Given the description of an element on the screen output the (x, y) to click on. 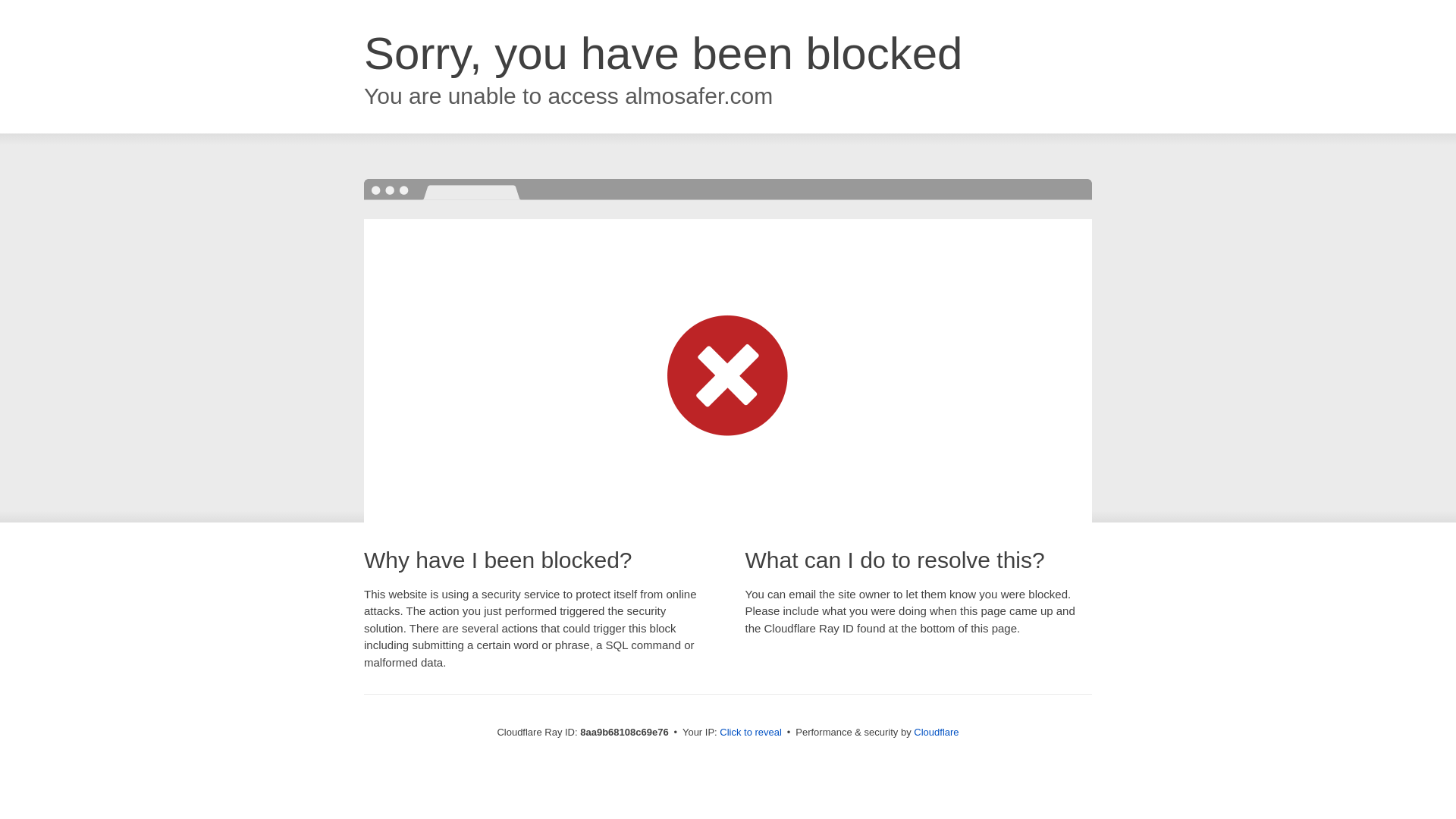
Click to reveal (750, 732)
Cloudflare (936, 731)
